Given the description of an element on the screen output the (x, y) to click on. 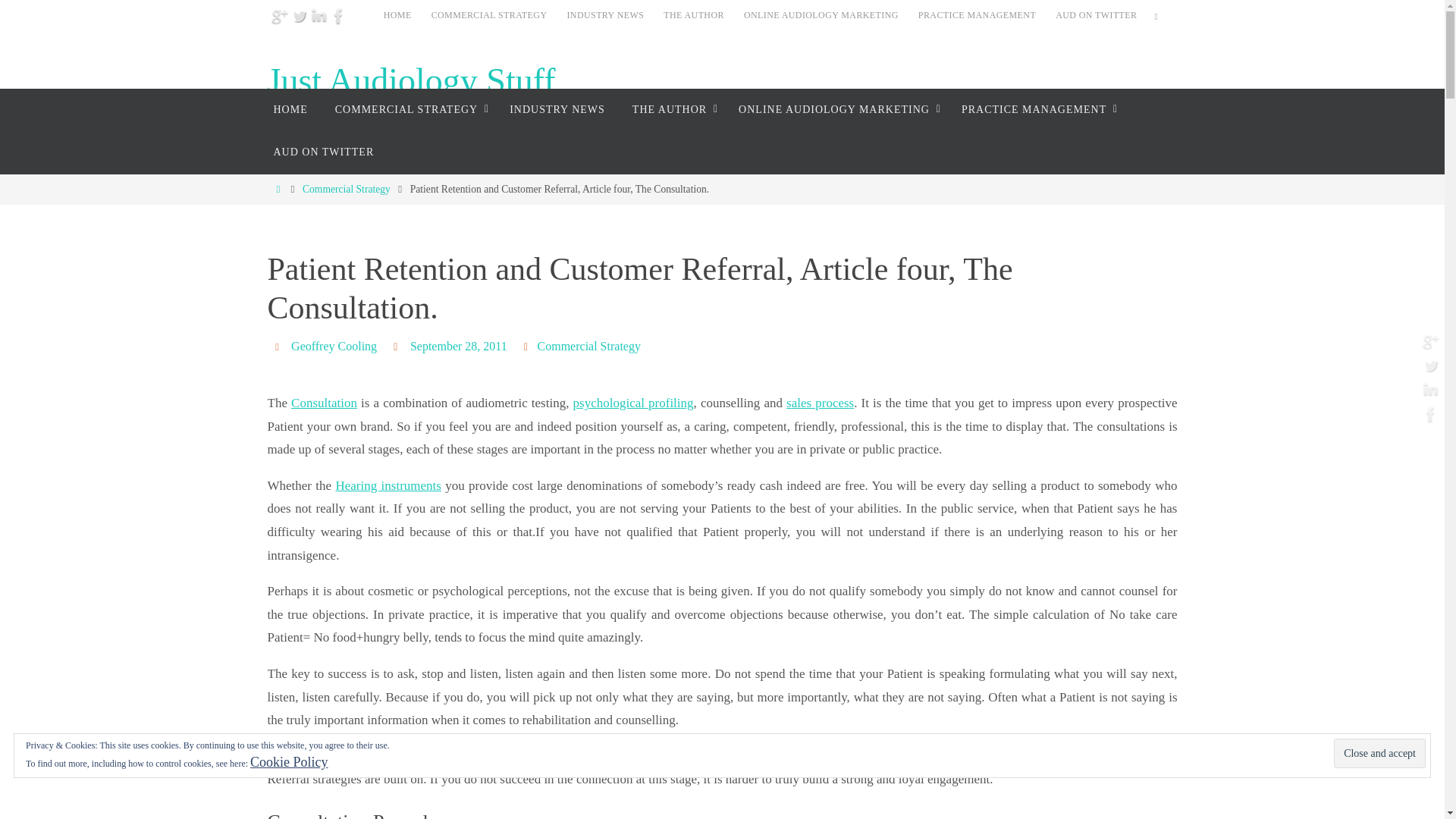
AUD ON TWITTER (323, 152)
AUD ON TWITTER (1096, 14)
PRACTICE MANAGEMENT (1035, 109)
Commercial Strategy (346, 188)
Google Plus (278, 15)
Author  (278, 345)
COMMERCIAL STRATEGY (408, 109)
COMMERCIAL STRATEGY (488, 14)
View all posts by Geoffrey Cooling (334, 345)
Date (397, 345)
